Given the description of an element on the screen output the (x, y) to click on. 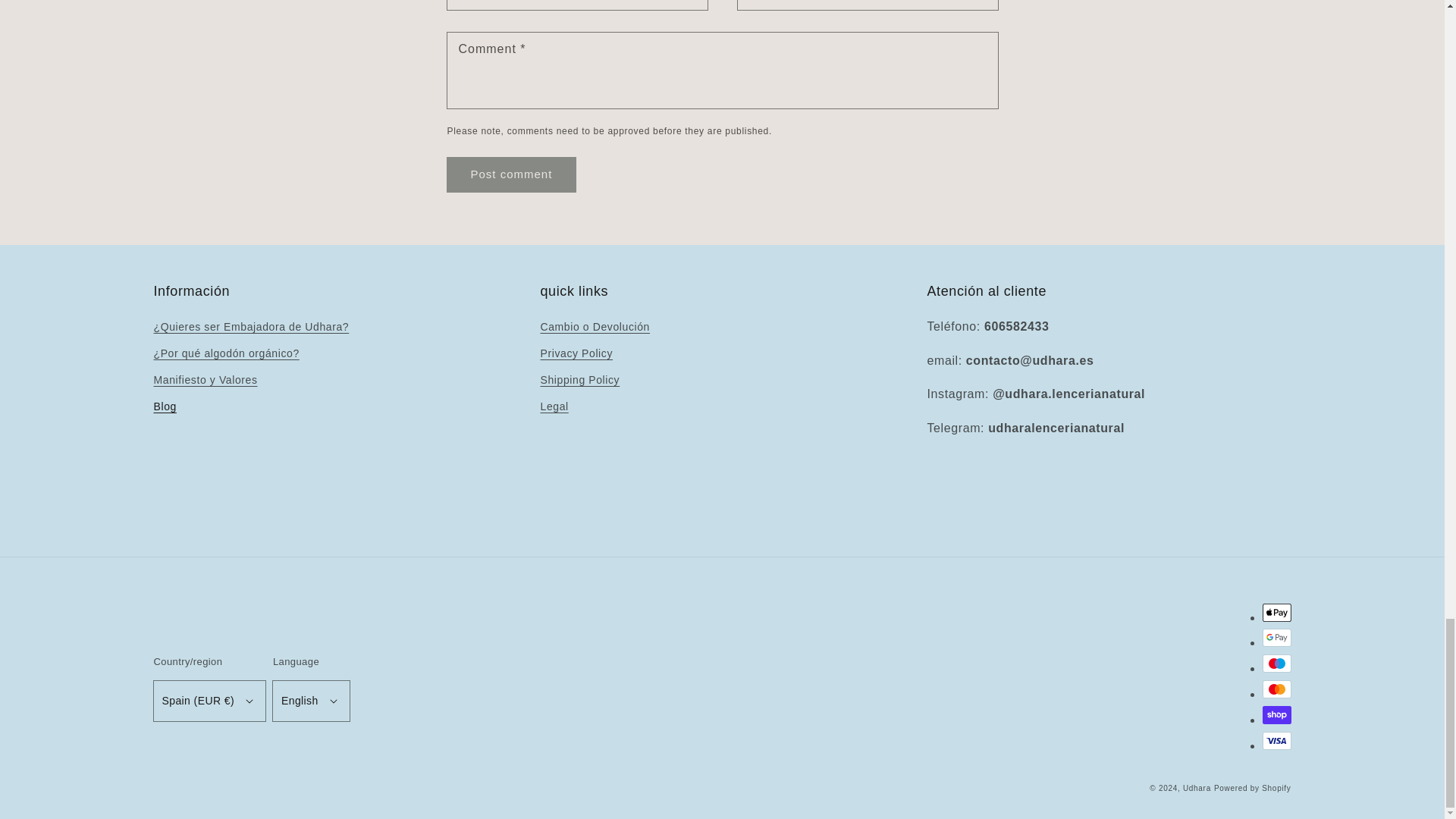
Visa (1276, 741)
Post comment (511, 174)
Google Pay (1276, 637)
Post comment (511, 174)
Apple Pay (1276, 612)
Manifiesto y Valores (204, 379)
Mastercard (1276, 689)
Maestro (1276, 663)
Shop Pay (1276, 714)
